Given the description of an element on the screen output the (x, y) to click on. 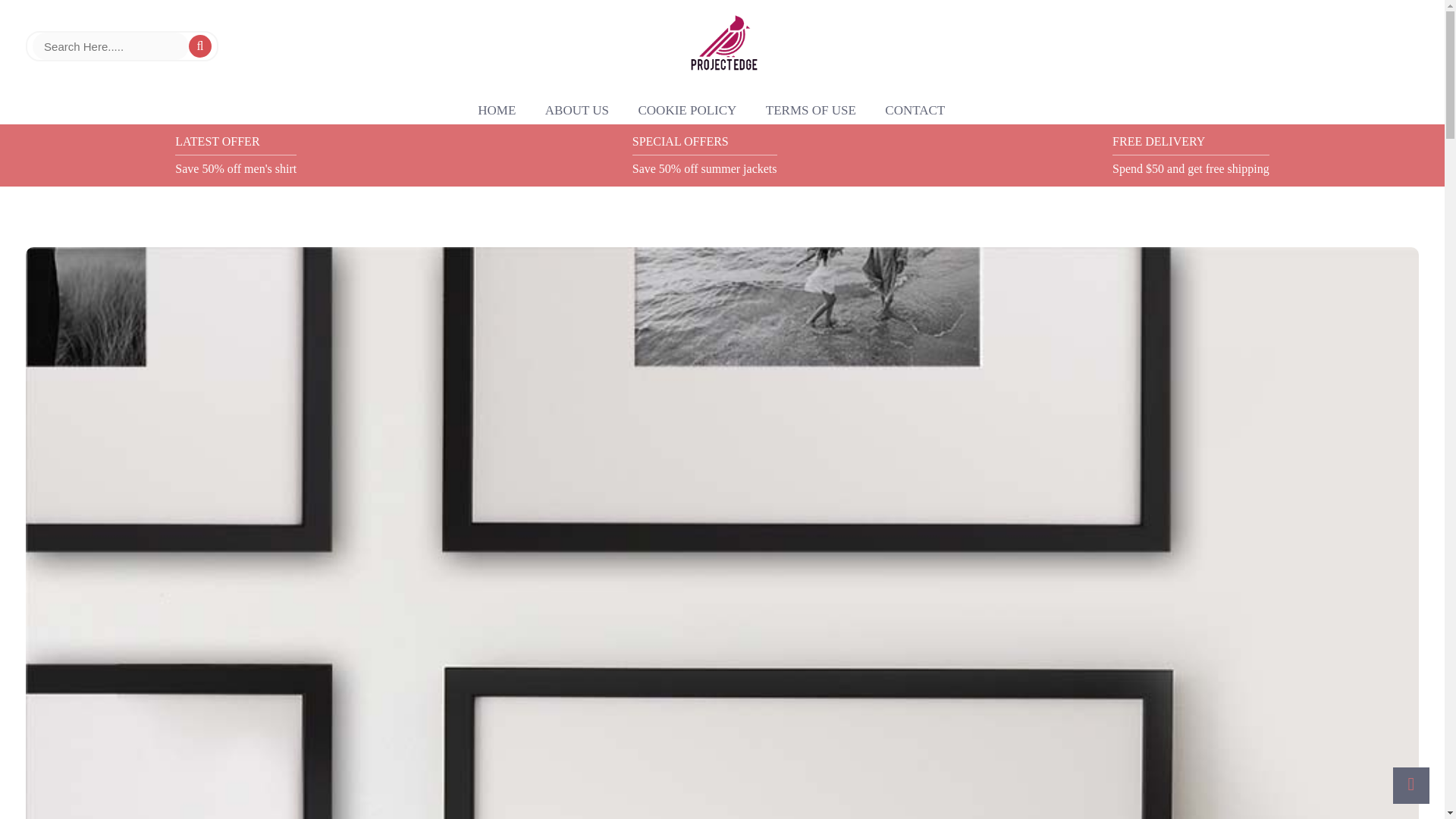
HOME (496, 110)
ABOUT US (576, 110)
COOKIE POLICY (686, 110)
TERMS OF USE (810, 110)
Project Edge (721, 45)
CONTACT (915, 110)
